Given the description of an element on the screen output the (x, y) to click on. 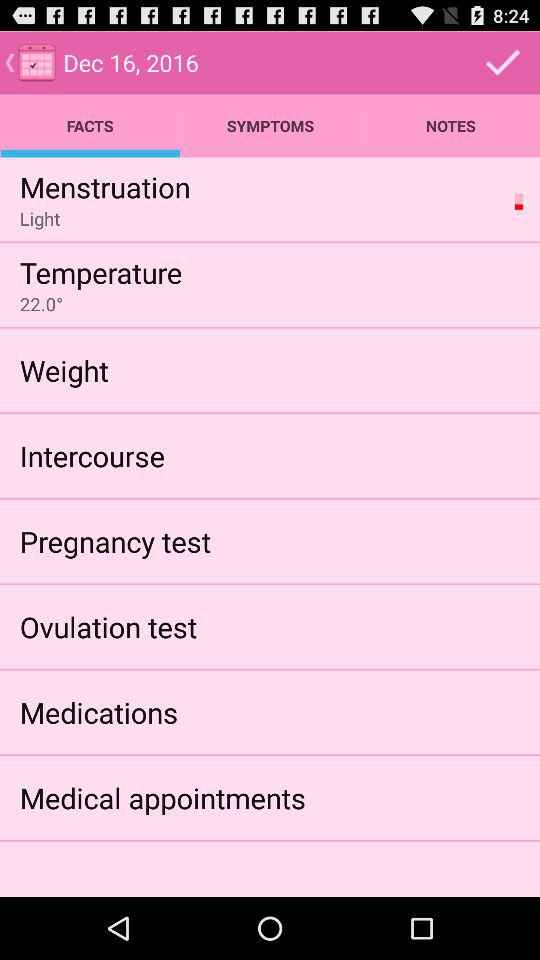
turn on the app below facts (104, 186)
